Given the description of an element on the screen output the (x, y) to click on. 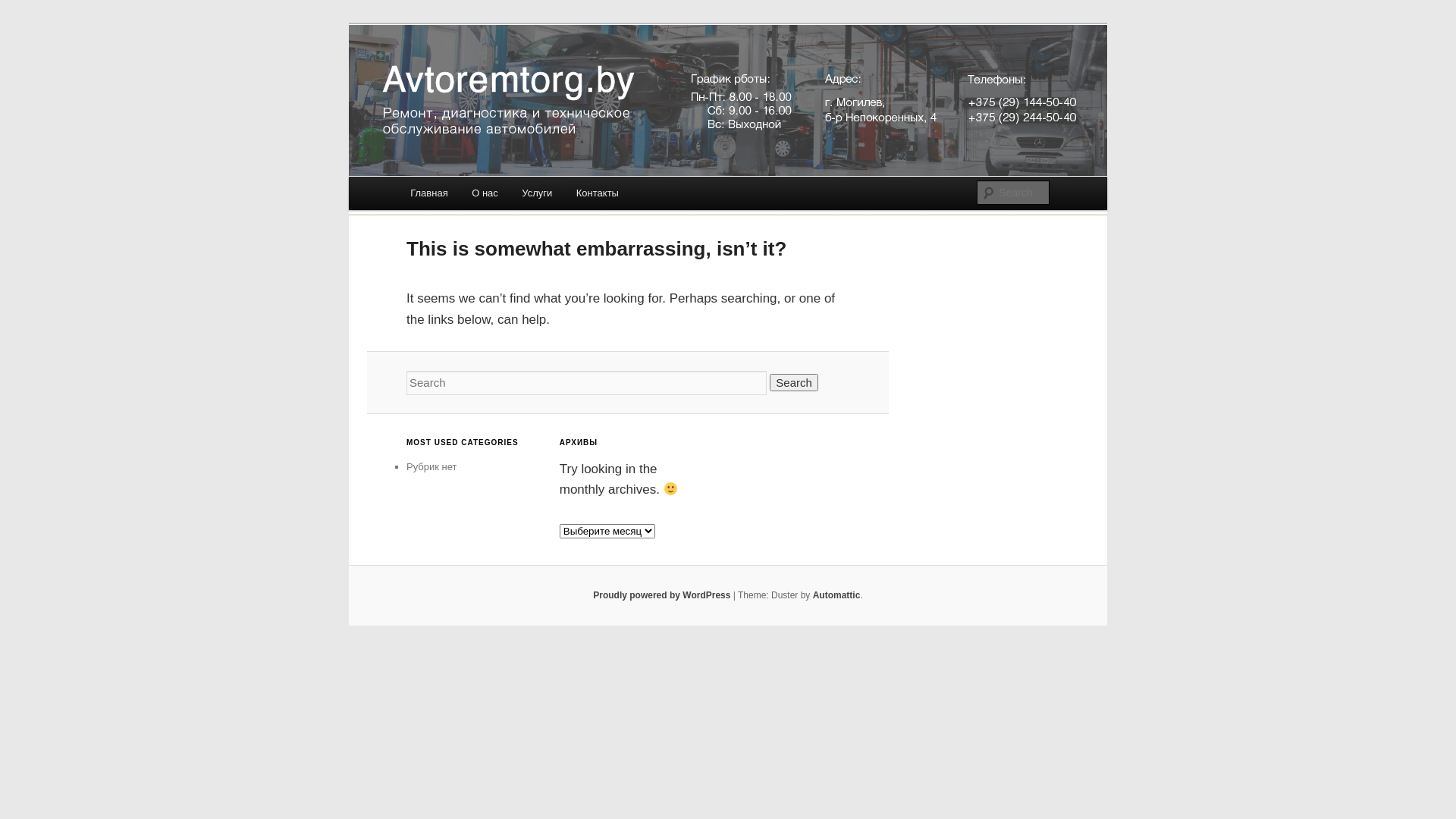
Search Element type: text (793, 381)
Automattic Element type: text (836, 594)
Avtoremtorg.by Element type: text (490, 82)
Proudly powered by WordPress Element type: text (661, 594)
Search Element type: text (24, 8)
Skip to content Element type: text (457, 195)
